Given the description of an element on the screen output the (x, y) to click on. 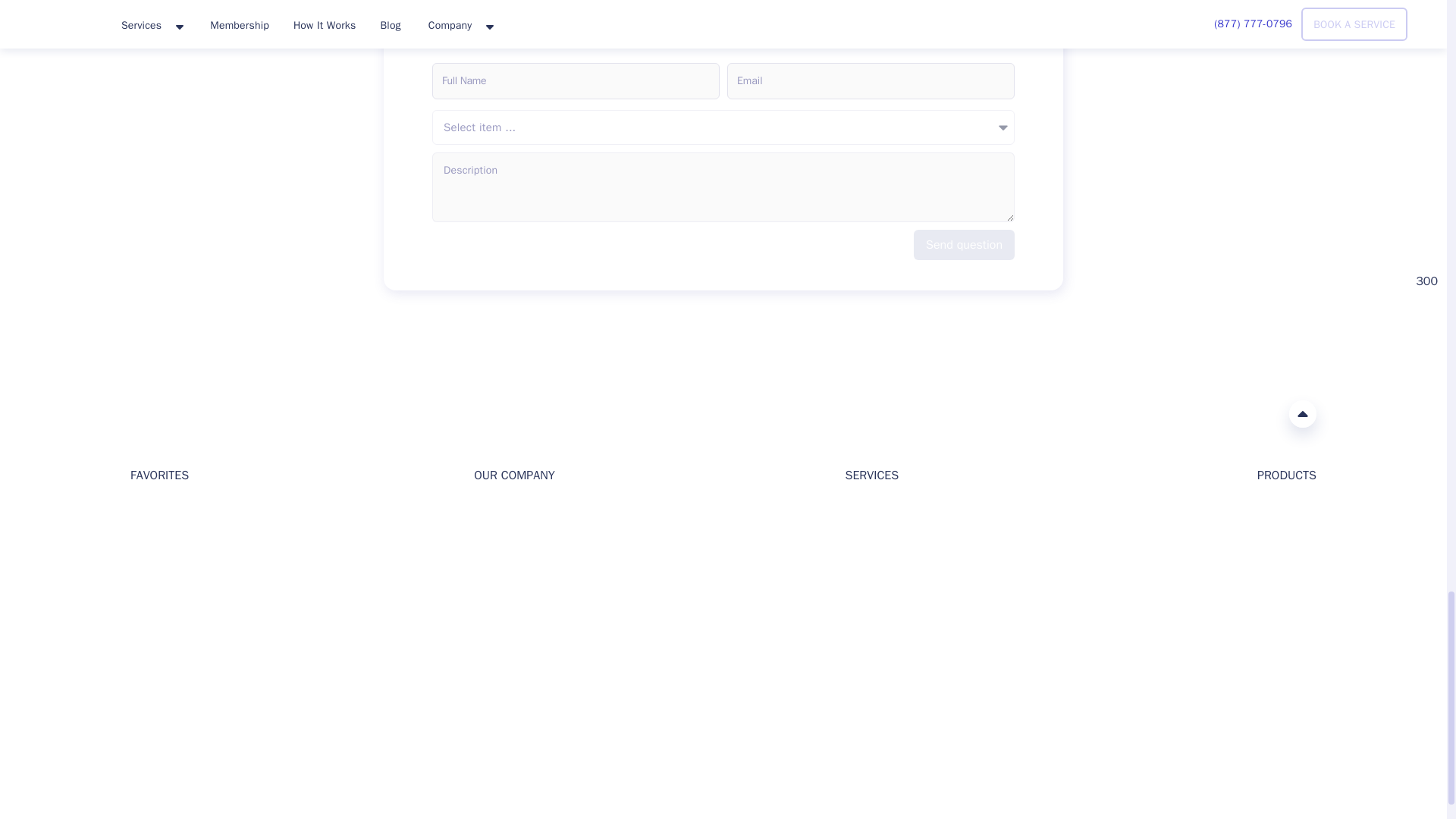
Blog (141, 535)
Send question (964, 245)
About Us (496, 512)
Welcome (152, 512)
Locations (154, 584)
HomeAlliance (146, 413)
Investors (496, 535)
Membership (160, 608)
Select item ... (723, 126)
Home Alliance Support (139, 714)
How It Works (506, 560)
